Given the description of an element on the screen output the (x, y) to click on. 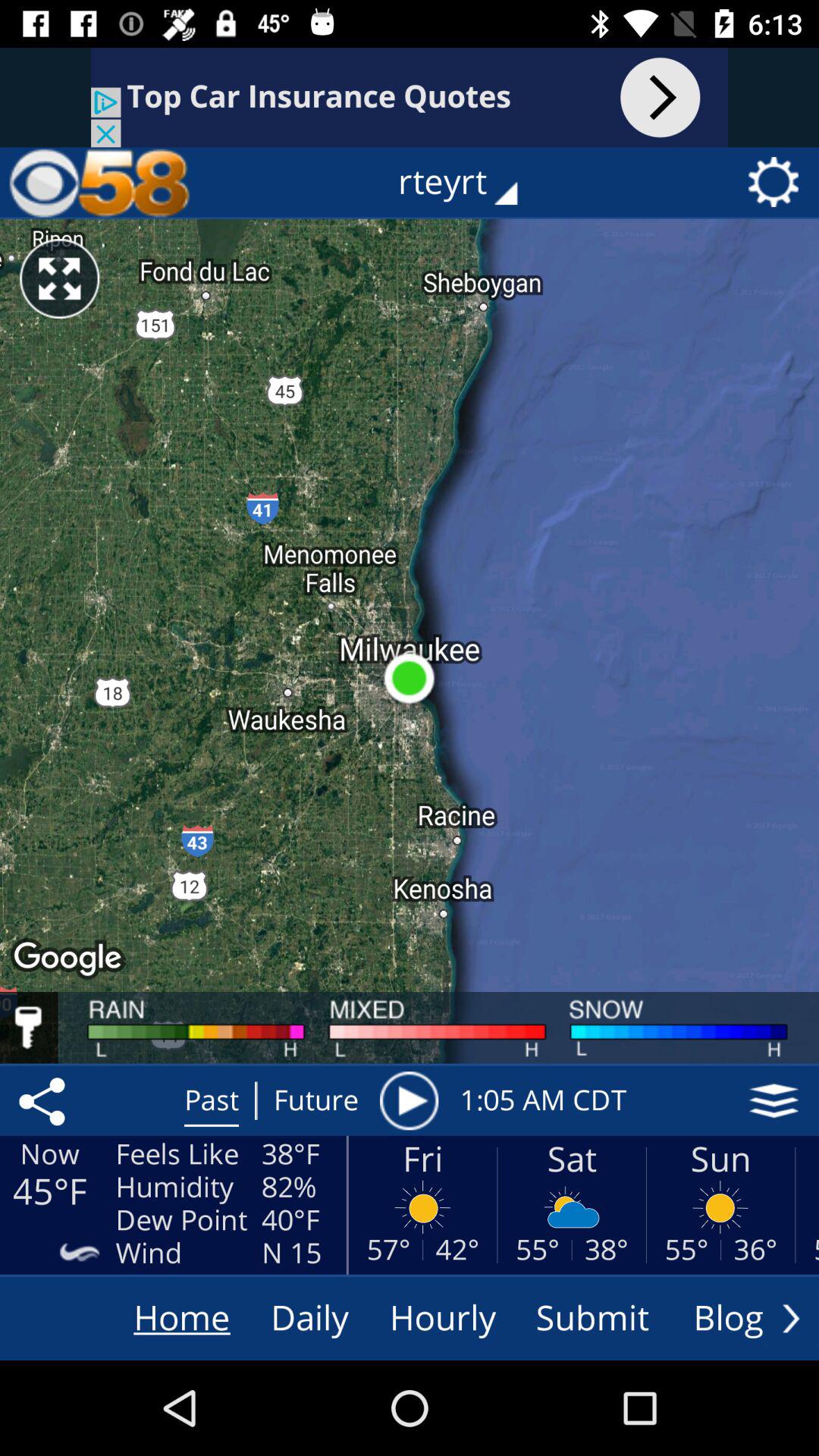
return (791, 1318)
